Given the description of an element on the screen output the (x, y) to click on. 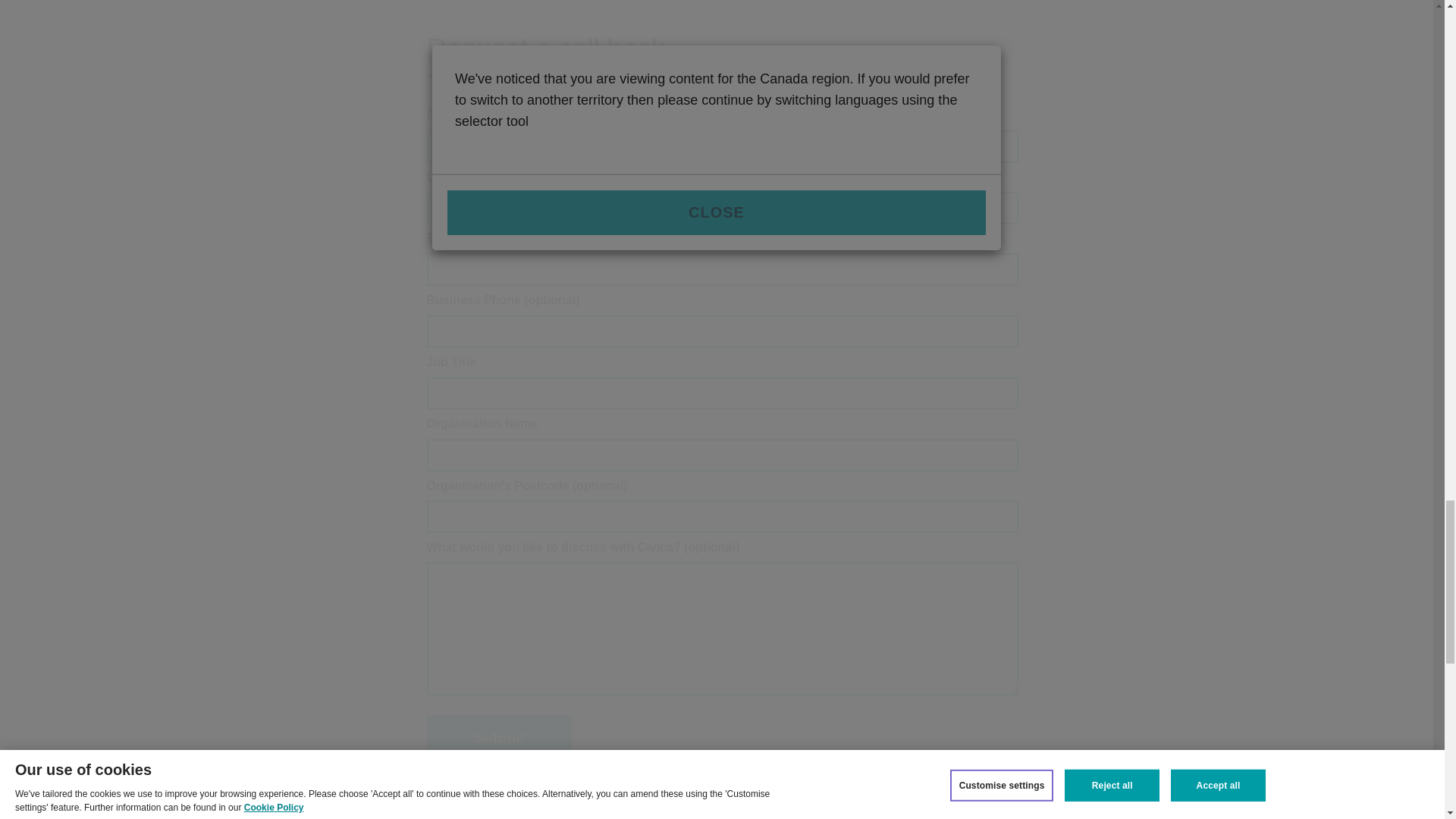
Submit (499, 737)
